Given the description of an element on the screen output the (x, y) to click on. 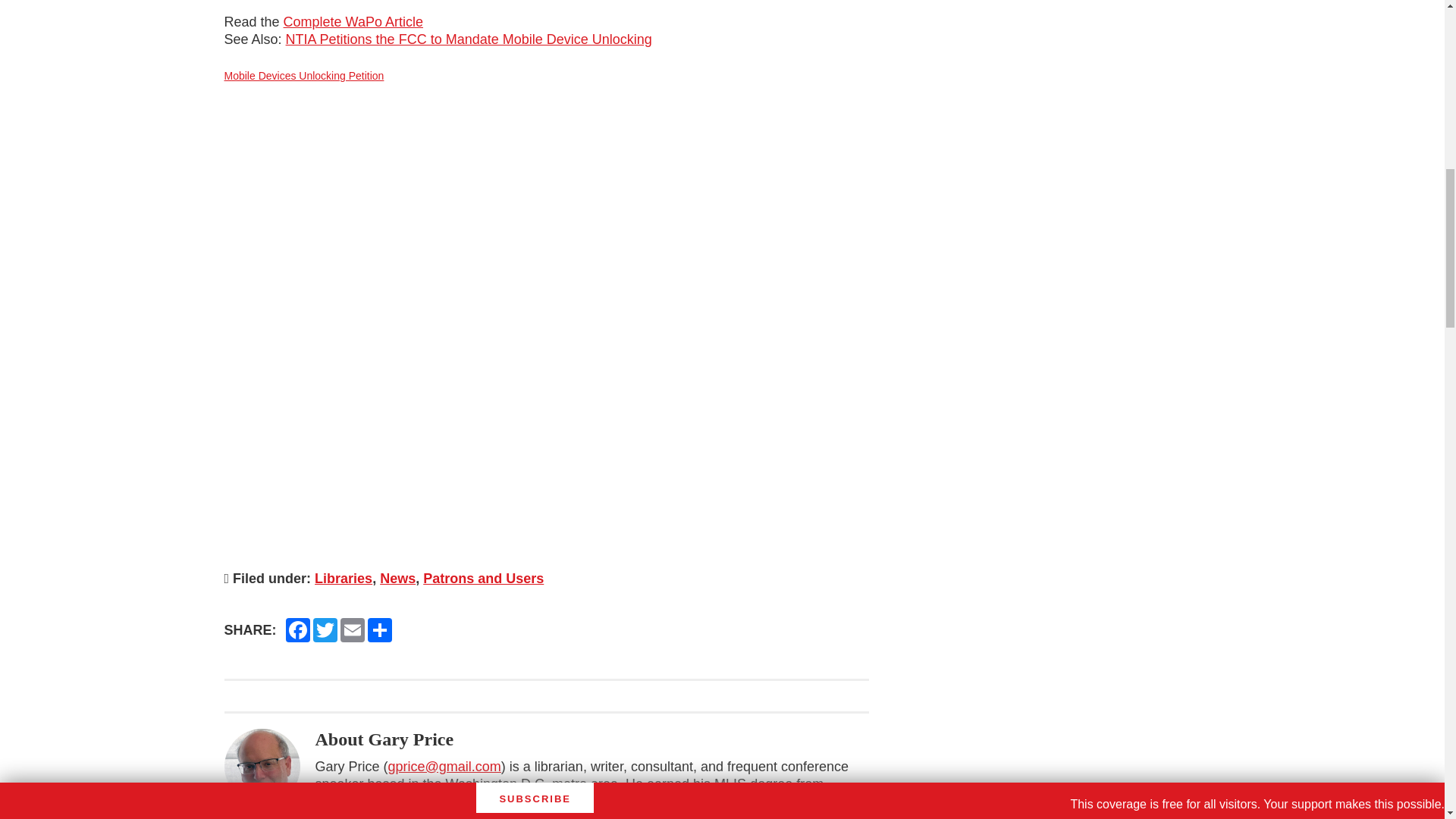
View Mobile Devices Unlocking Petition  on Scribd (304, 75)
3rd party ad content (1106, 91)
